Given the description of an element on the screen output the (x, y) to click on. 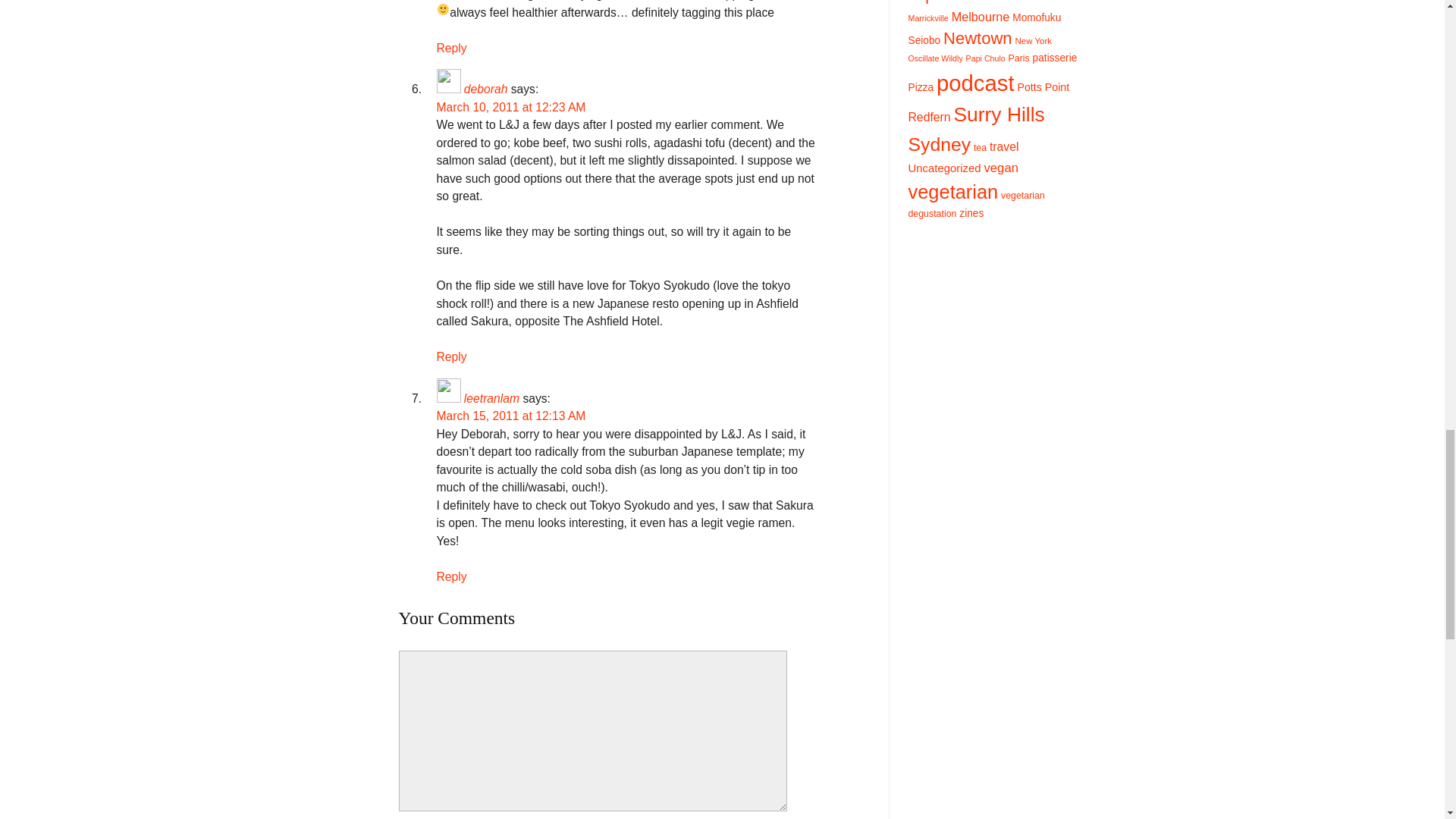
leetranlam (491, 398)
Reply (451, 47)
March 15, 2011 at 12:13 AM (511, 415)
deborah (486, 88)
Reply (451, 576)
March 10, 2011 at 12:23 AM (511, 106)
Reply (451, 356)
